Given the description of an element on the screen output the (x, y) to click on. 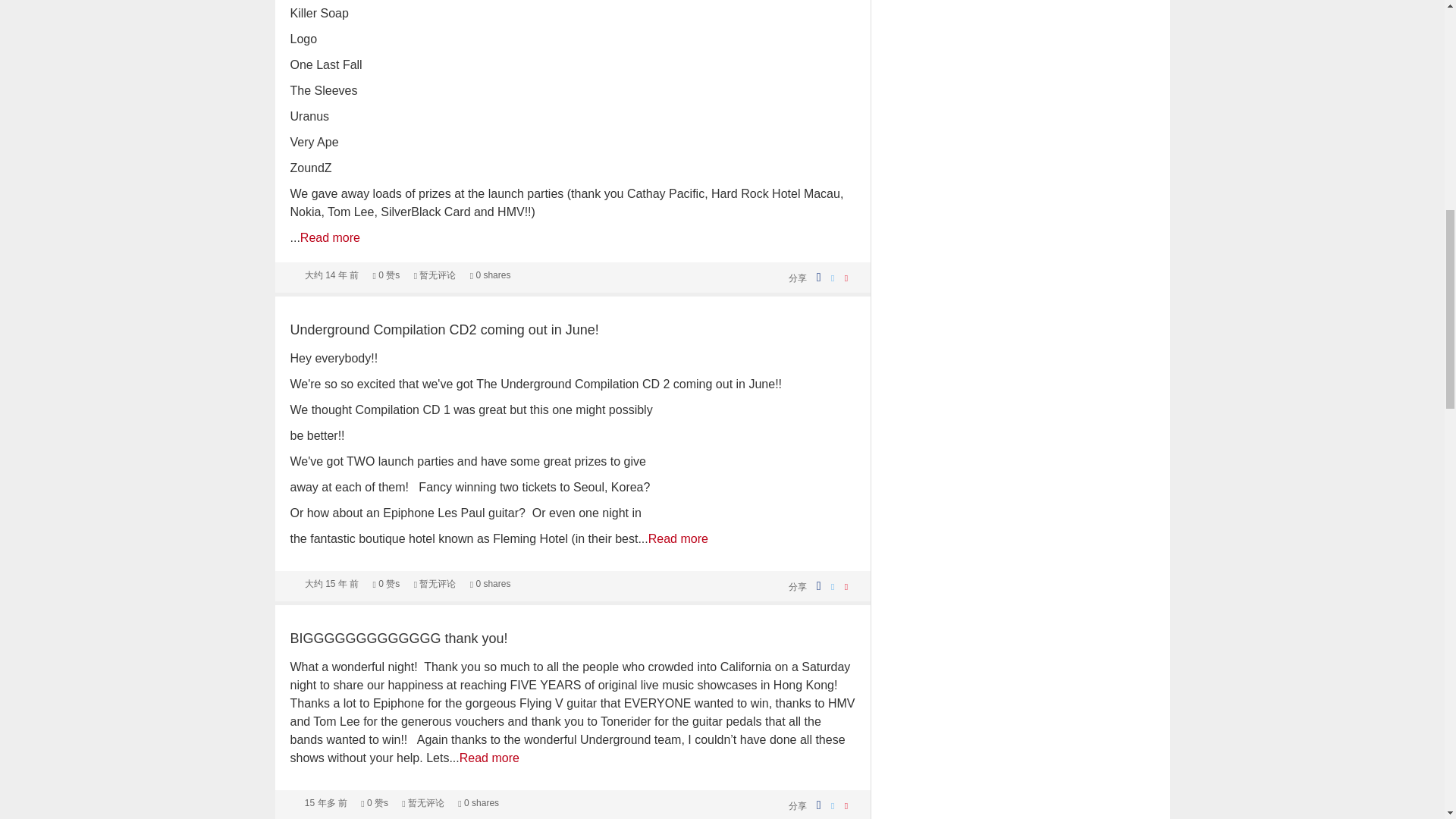
Read more (329, 237)
Read more (489, 757)
Read more (677, 538)
